Given the description of an element on the screen output the (x, y) to click on. 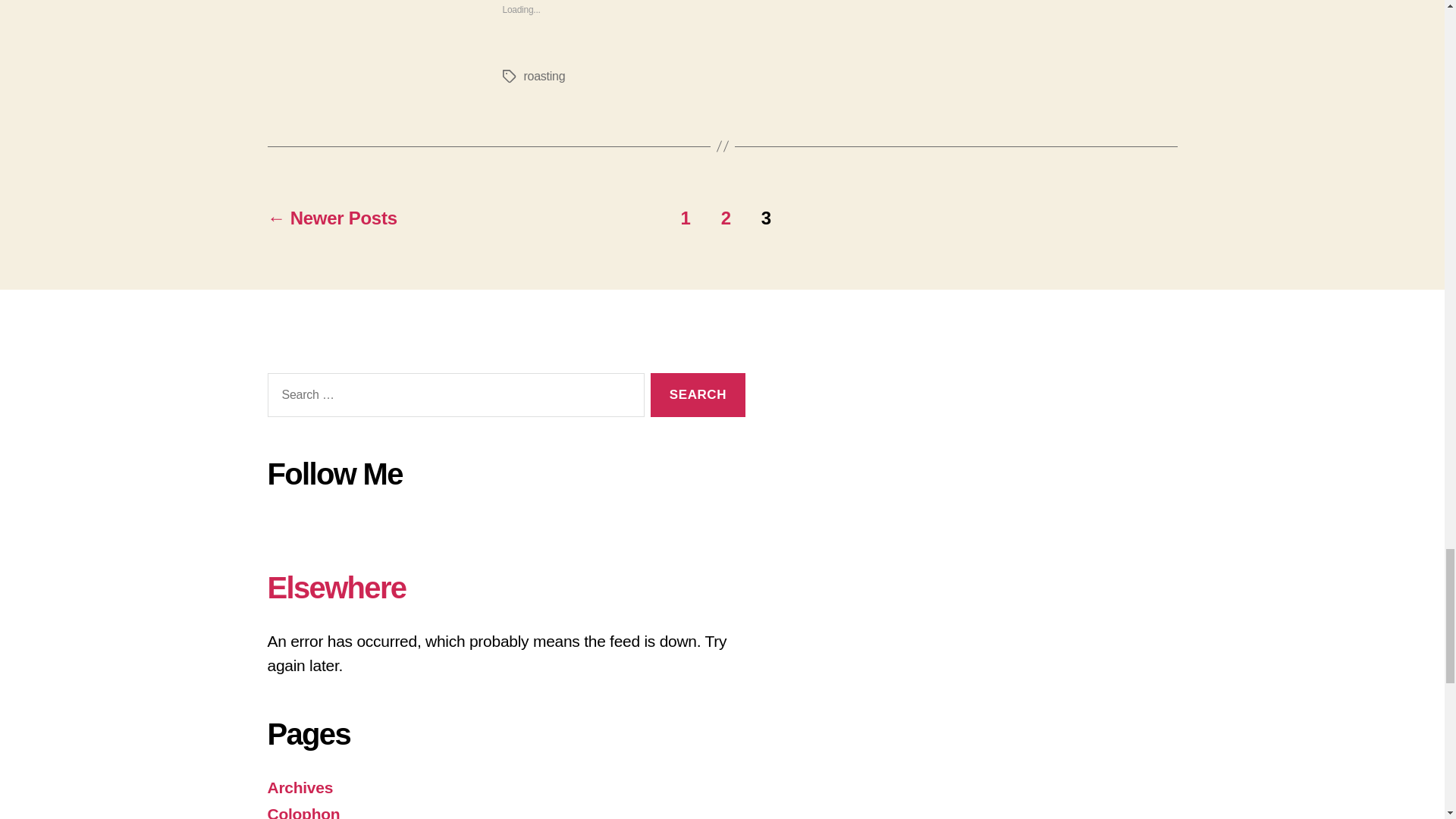
Archives (299, 787)
Search (697, 395)
Colophon (302, 812)
Search (697, 395)
Follow Button (505, 522)
Elsewhere (336, 587)
roasting (543, 75)
Search (697, 395)
